Given the description of an element on the screen output the (x, y) to click on. 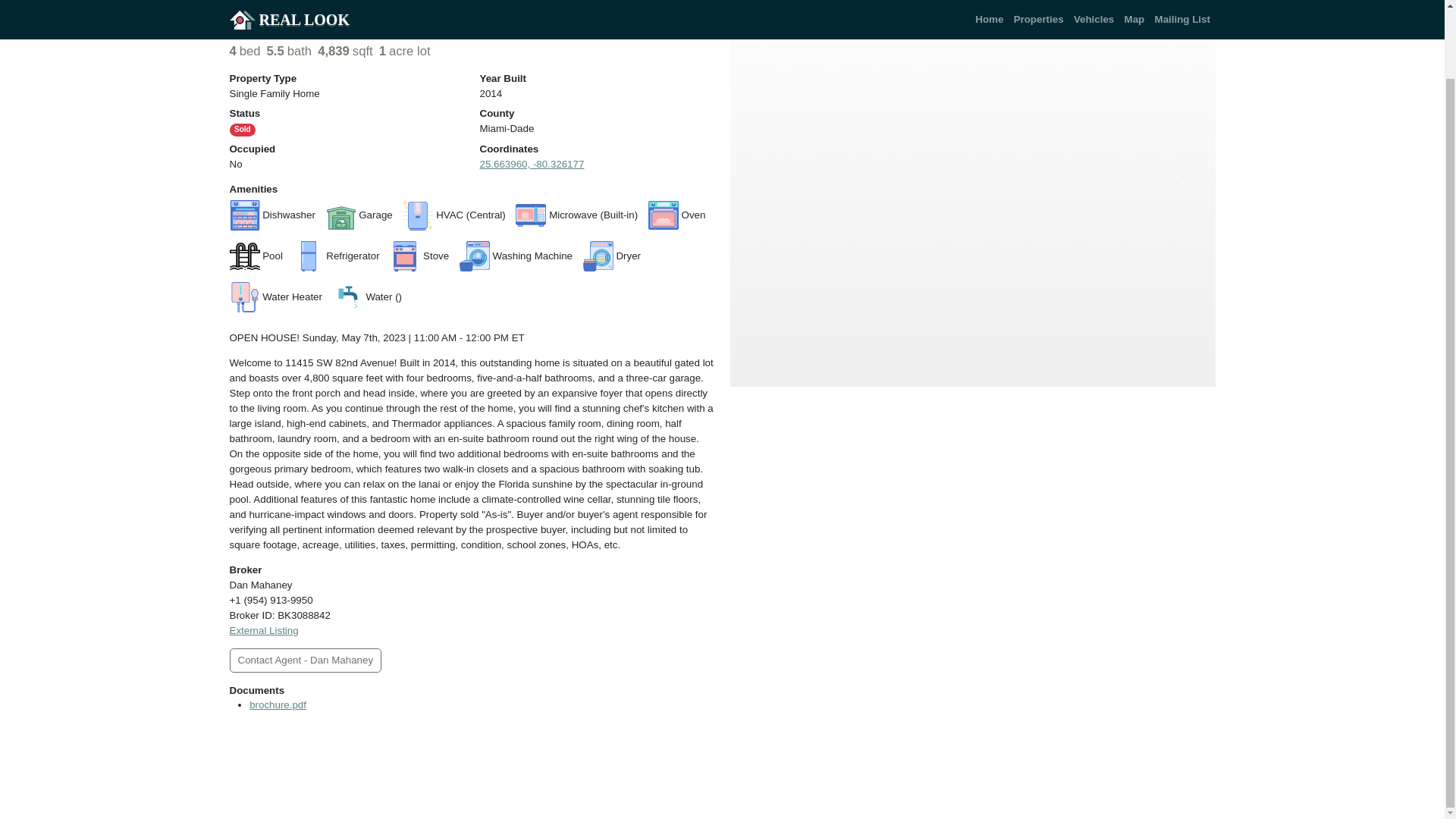
Contact Agent - Dan Mahaney (304, 660)
25.663960, -80.326177 (531, 163)
External Listing (263, 630)
brochure.pdf (276, 704)
